Given the description of an element on the screen output the (x, y) to click on. 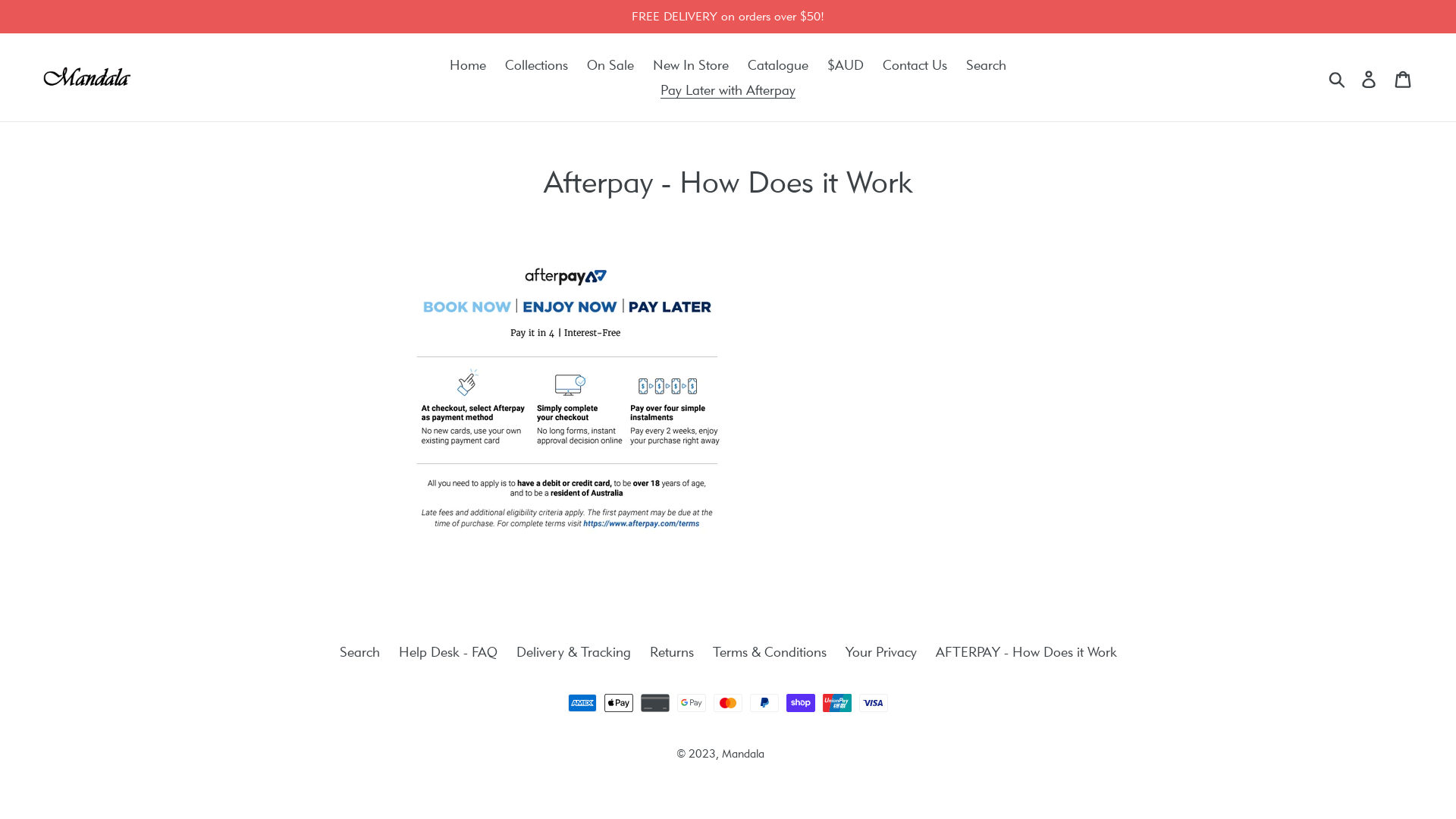
Search Element type: text (985, 64)
Home Element type: text (467, 64)
$AUD Element type: text (845, 64)
Returns Element type: text (671, 651)
New In Store Element type: text (690, 64)
Log in Element type: text (1369, 77)
Mandala Element type: text (742, 753)
Delivery & Tracking Element type: text (572, 651)
On Sale Element type: text (610, 64)
Pay Later with Afterpay Element type: text (727, 89)
Help Desk - FAQ Element type: text (447, 651)
Terms & Conditions Element type: text (769, 651)
Submit Element type: text (1337, 77)
AFTERPAY - How Does it Work Element type: text (1026, 651)
Cart Element type: text (1403, 77)
Search Element type: text (359, 651)
Your Privacy Element type: text (880, 651)
Catalogue Element type: text (777, 64)
Contact Us Element type: text (914, 64)
Collections Element type: text (536, 64)
